Given the description of an element on the screen output the (x, y) to click on. 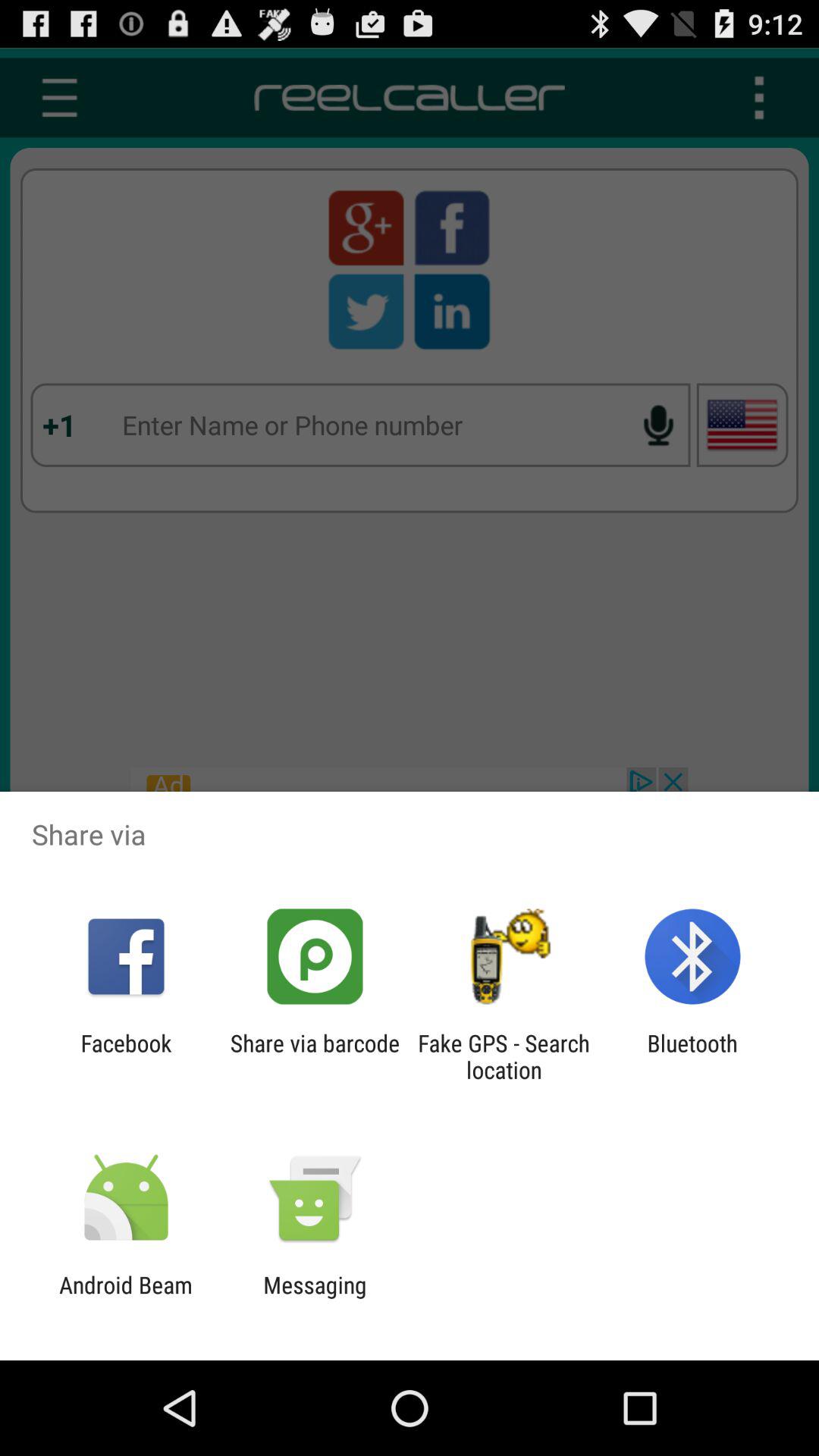
flip to the fake gps search app (503, 1056)
